Given the description of an element on the screen output the (x, y) to click on. 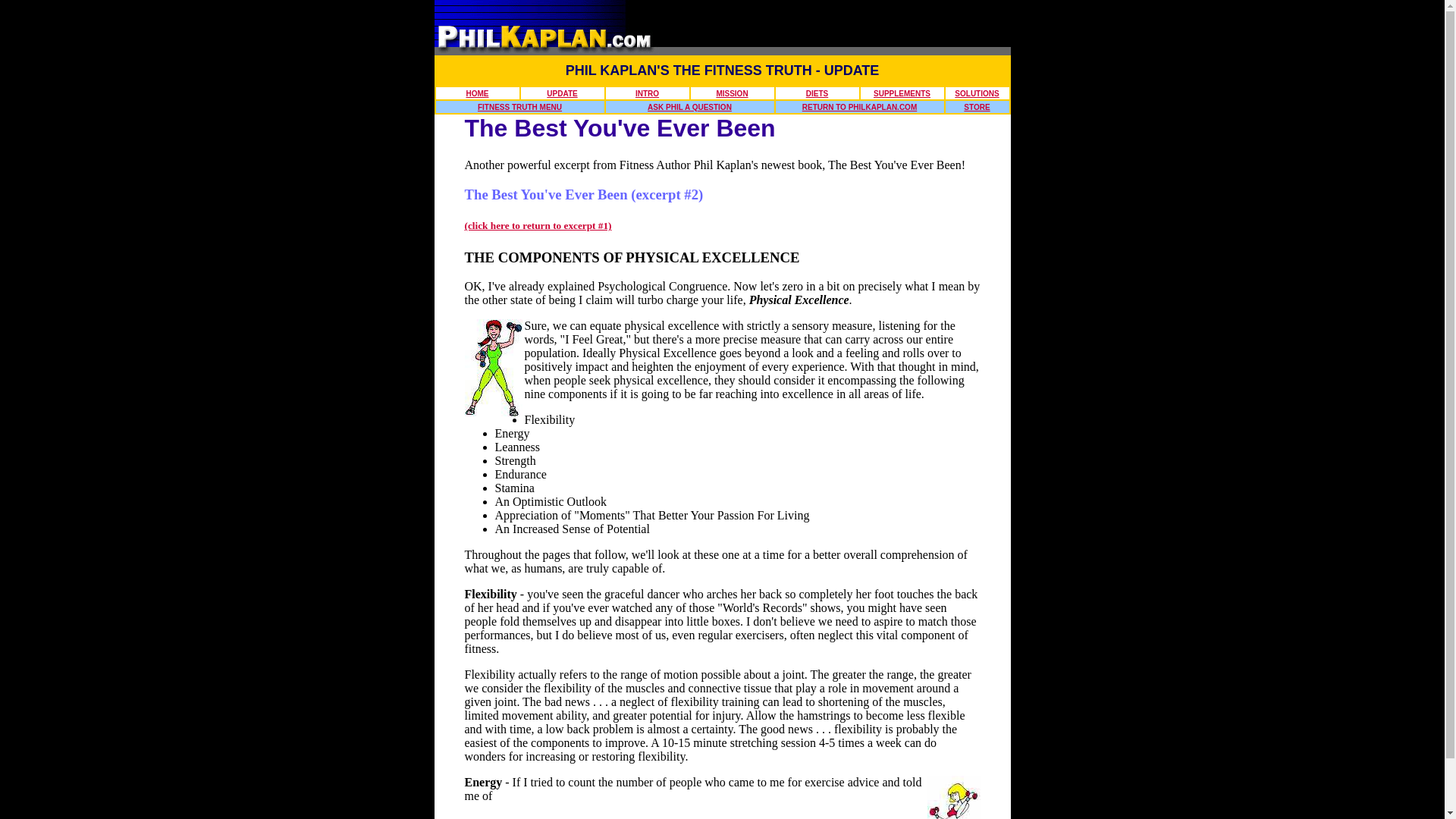
ASK PHIL A QUESTION (689, 107)
UPDATE (561, 93)
INTRO (646, 93)
FITNESS TRUTH MENU (519, 107)
DIETS (817, 93)
MISSION (732, 93)
SOLUTIONS (976, 93)
SUPPLEMENTS (901, 93)
HOME (476, 93)
RETURN TO PHILKAPLAN.COM (859, 107)
